Given the description of an element on the screen output the (x, y) to click on. 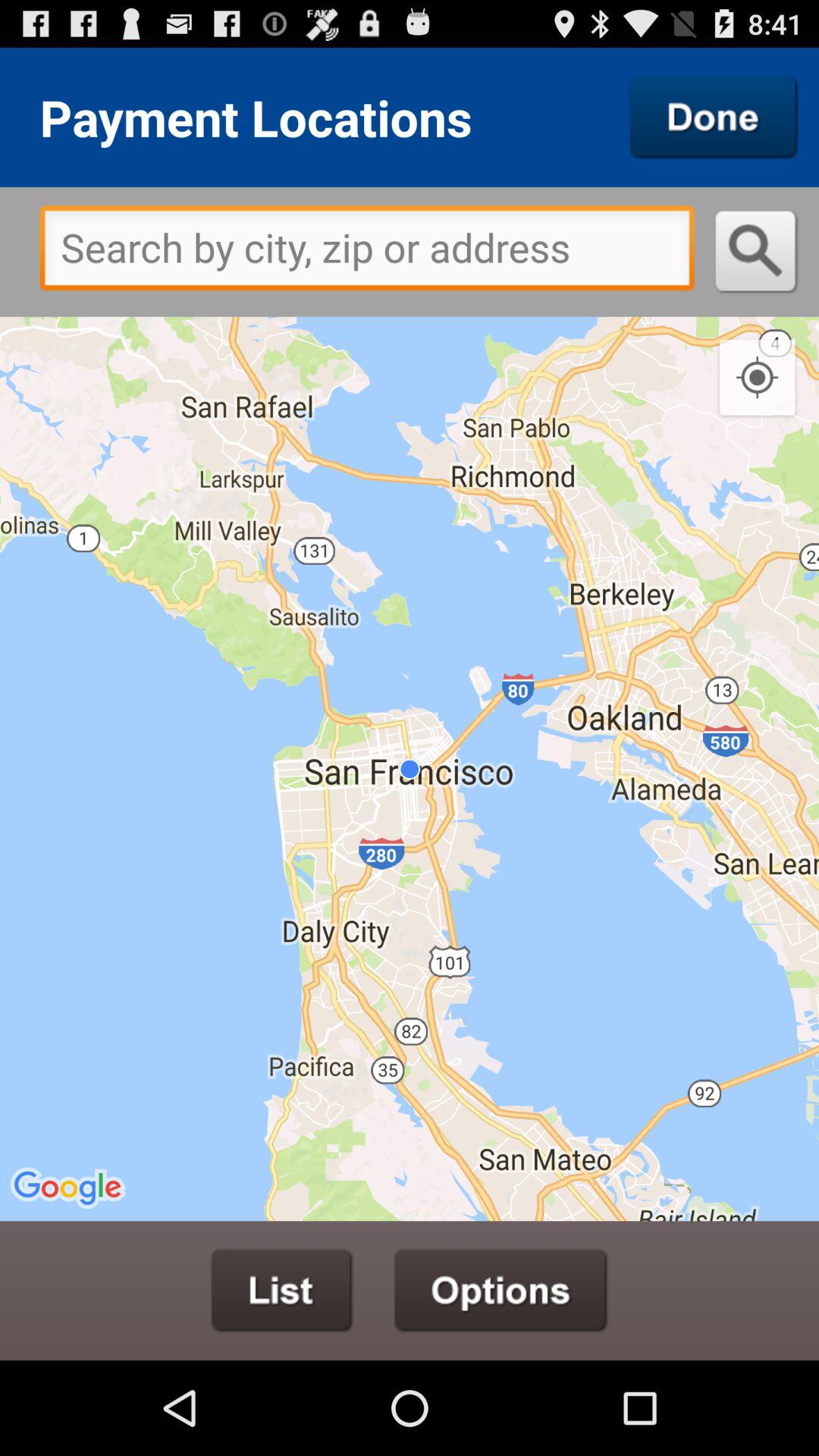
done button for completion (714, 117)
